Given the description of an element on the screen output the (x, y) to click on. 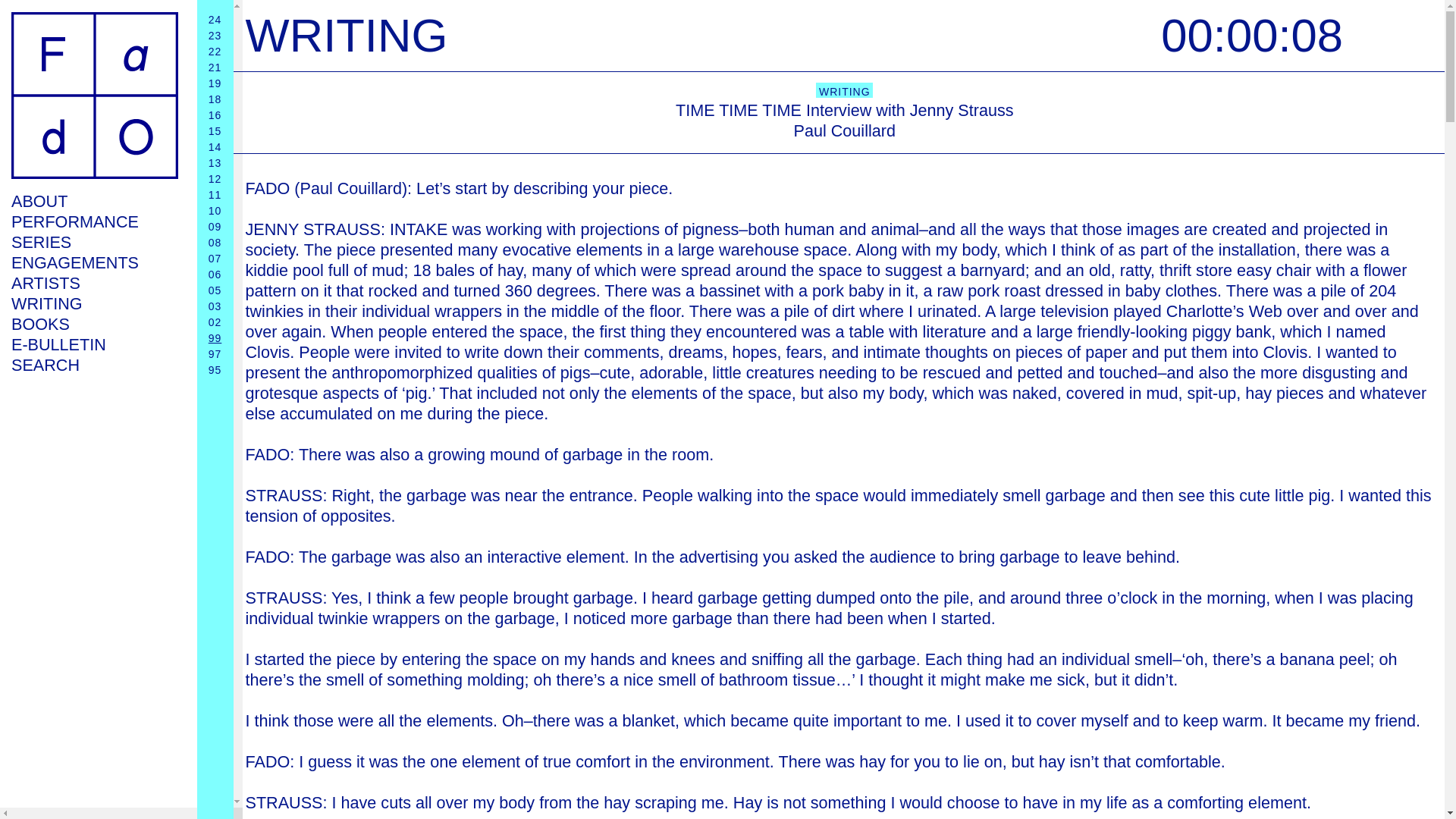
22 (215, 51)
PERFORMANCE (94, 221)
E-BULLETIN (94, 344)
ENGAGEMENTS (94, 262)
03 (215, 306)
05 (215, 290)
WRITING (94, 303)
14 (215, 146)
15 (215, 131)
24 (215, 19)
12 (215, 178)
07 (215, 258)
ABOUT (94, 200)
06 (215, 274)
21 (215, 67)
